Given the description of an element on the screen output the (x, y) to click on. 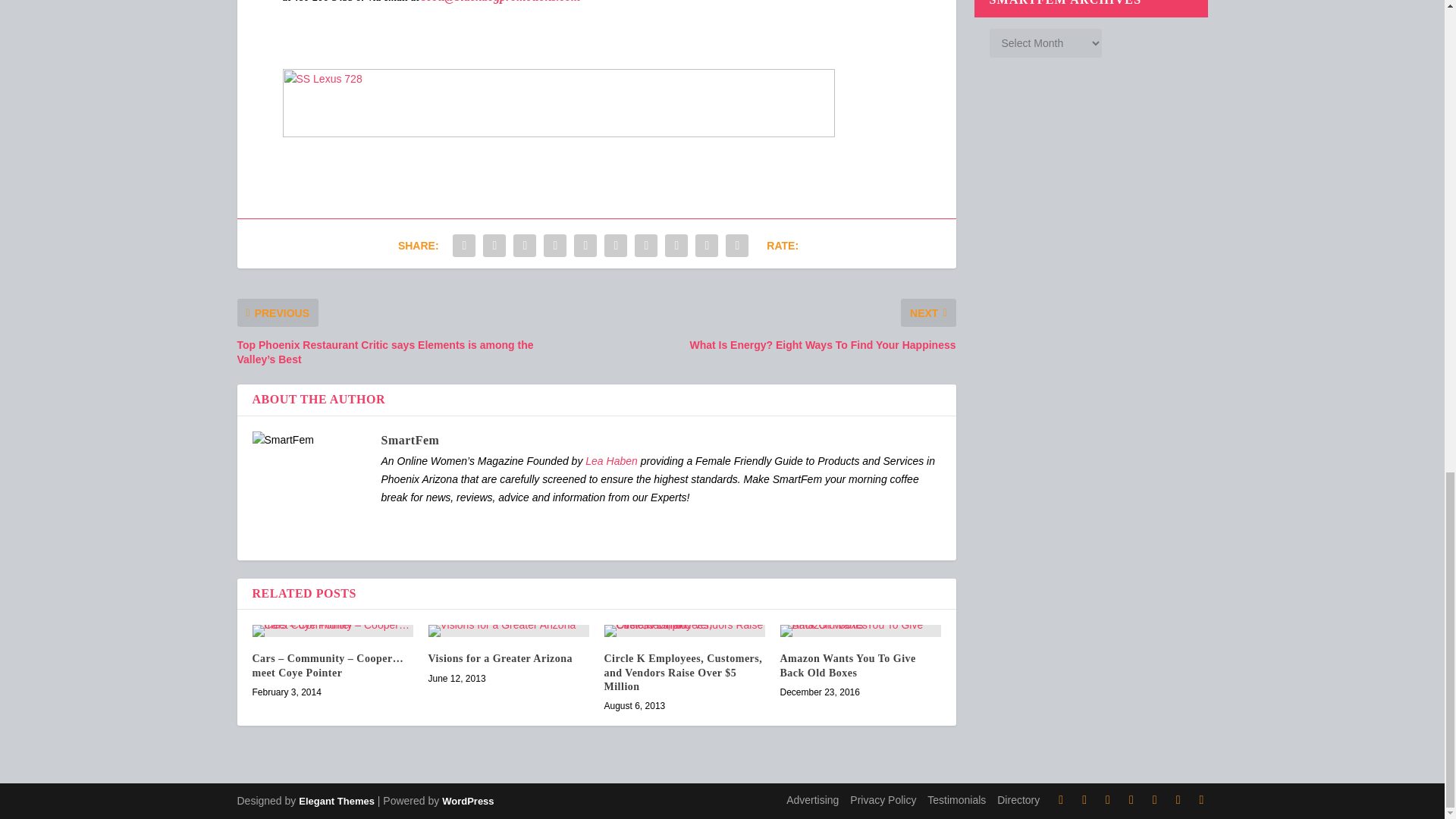
View all posts by SmartFem (409, 440)
SS Lexus 728 (558, 133)
SS Lexus 728 (558, 102)
